Given the description of an element on the screen output the (x, y) to click on. 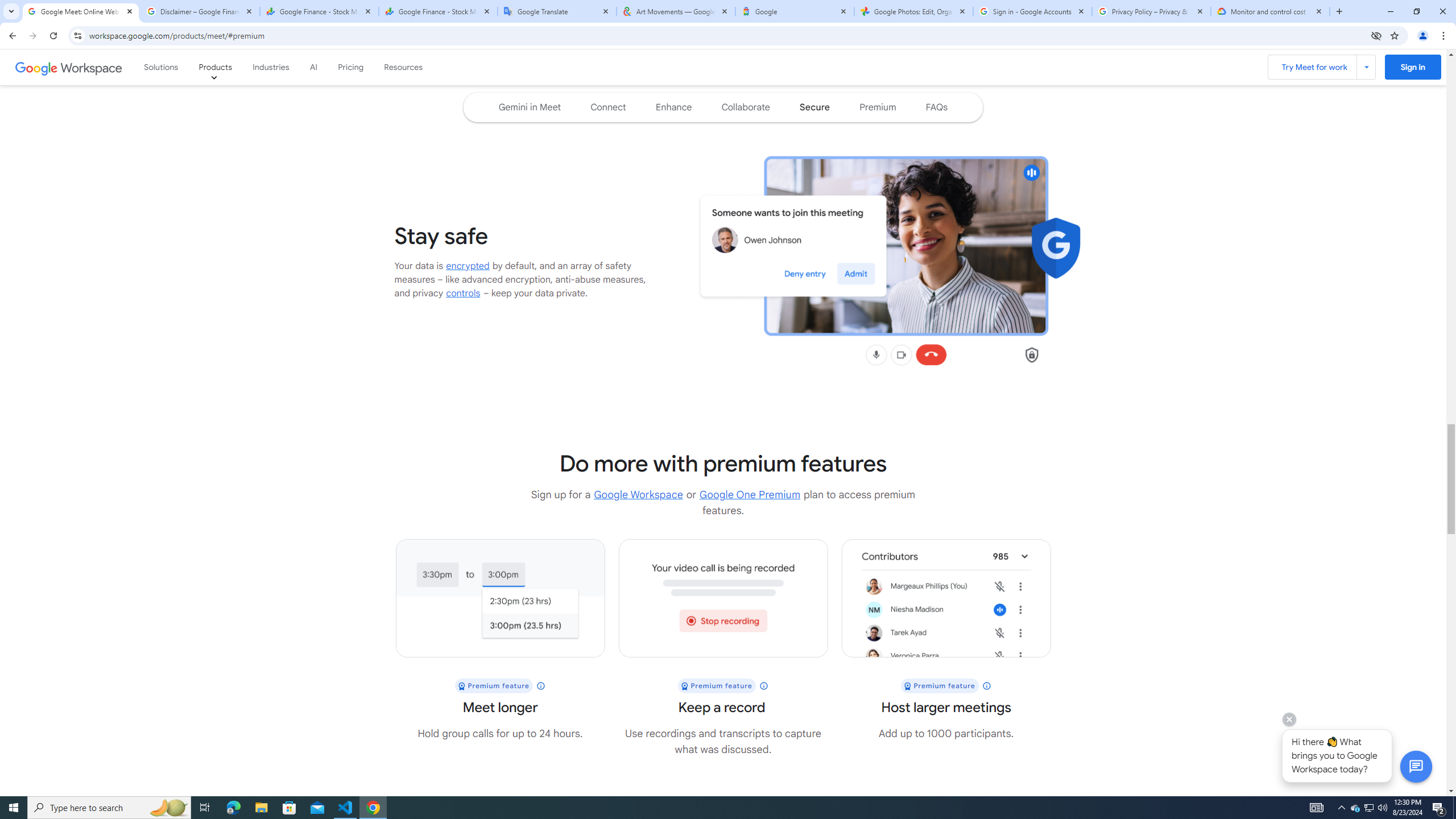
Google One Premium (749, 495)
AutomationID: cloud-chatbot-chat-activate-bar-desktop (1416, 766)
Jump to the enhance section of the page (673, 107)
Google Workspace (638, 495)
Jump to the Google Meet FAQs (936, 107)
Pricing (350, 67)
Jump to the connect section of the page  (608, 107)
